Given the description of an element on the screen output the (x, y) to click on. 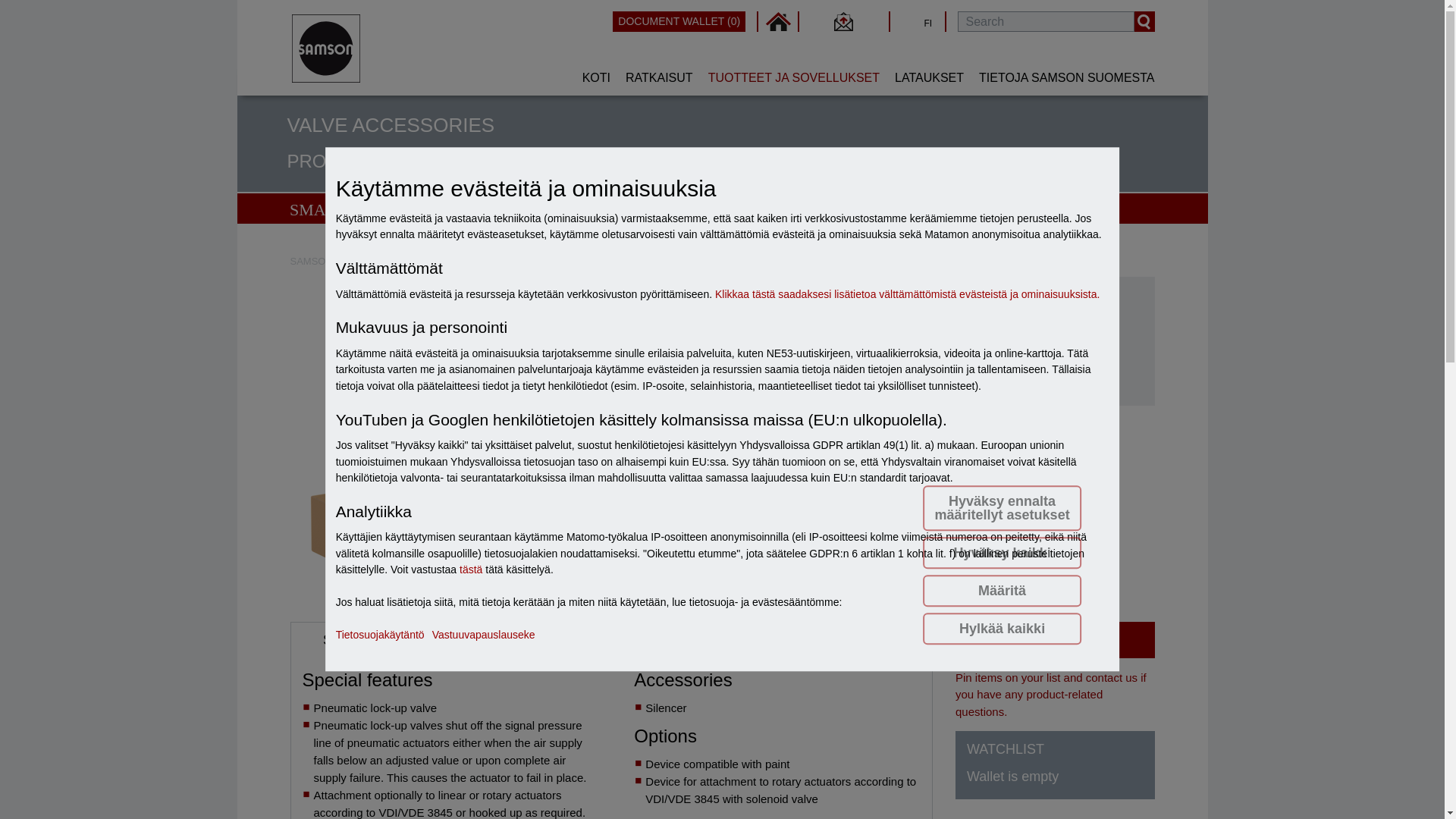
RATKAISUT (658, 77)
Home (777, 21)
Search (1144, 21)
KOTI (596, 77)
HOME (777, 21)
SAMSON Finland (328, 260)
TUOTTEET JA SOVELLUKSET (793, 77)
Yhteystiedot (843, 21)
FI (908, 21)
Tuotevalinta (503, 260)
Tuotteet ja sovellukset (422, 260)
YHTEYSTIEDOT (843, 21)
